Given the description of an element on the screen output the (x, y) to click on. 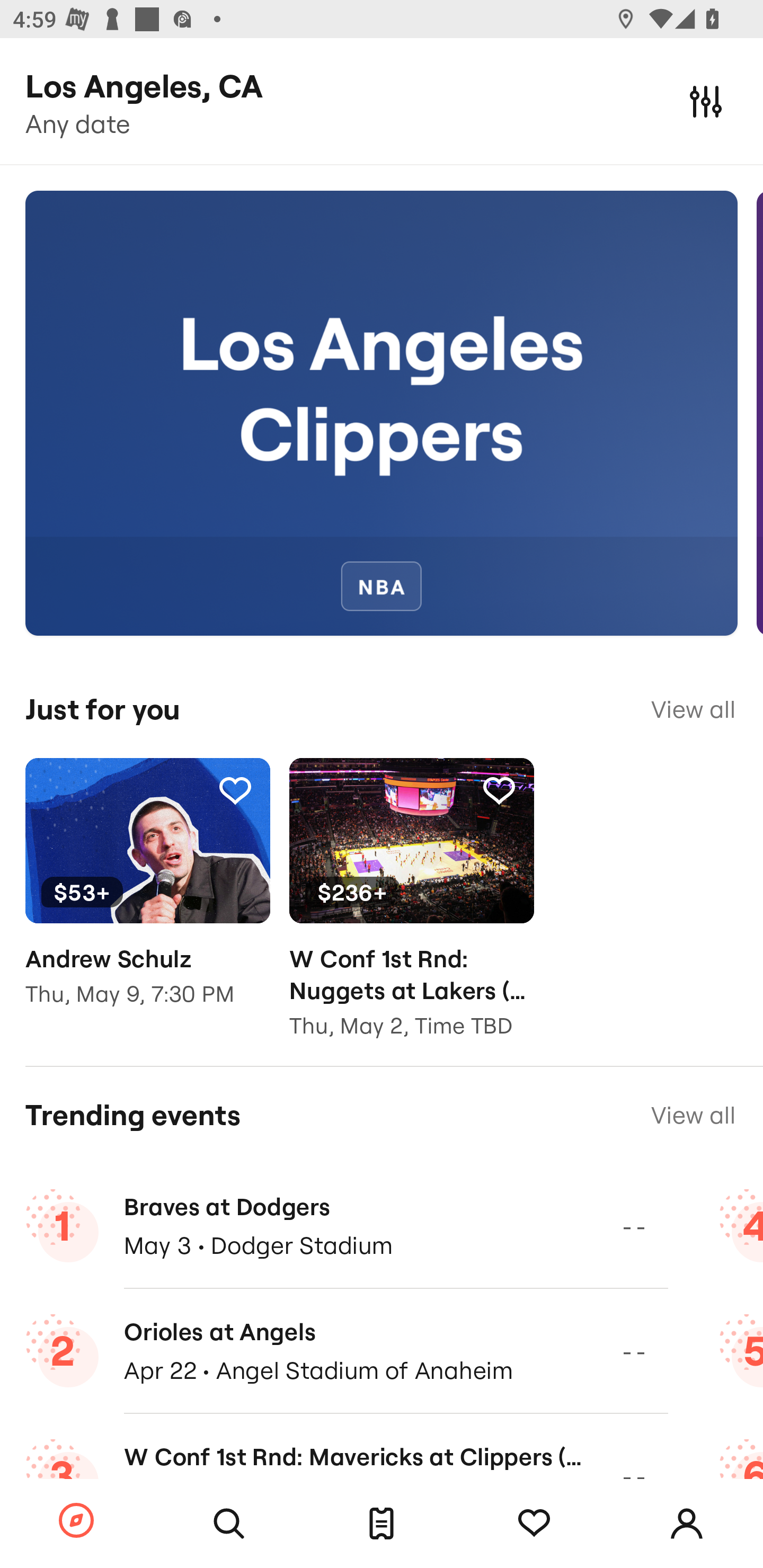
Filters (705, 100)
View all (693, 709)
Tracking $53+ Andrew Schulz Thu, May 9, 7:30 PM (147, 895)
Tracking (234, 790)
Tracking (498, 790)
View all (693, 1114)
Browse (76, 1521)
Search (228, 1523)
Tickets (381, 1523)
Tracking (533, 1523)
Account (686, 1523)
